Given the description of an element on the screen output the (x, y) to click on. 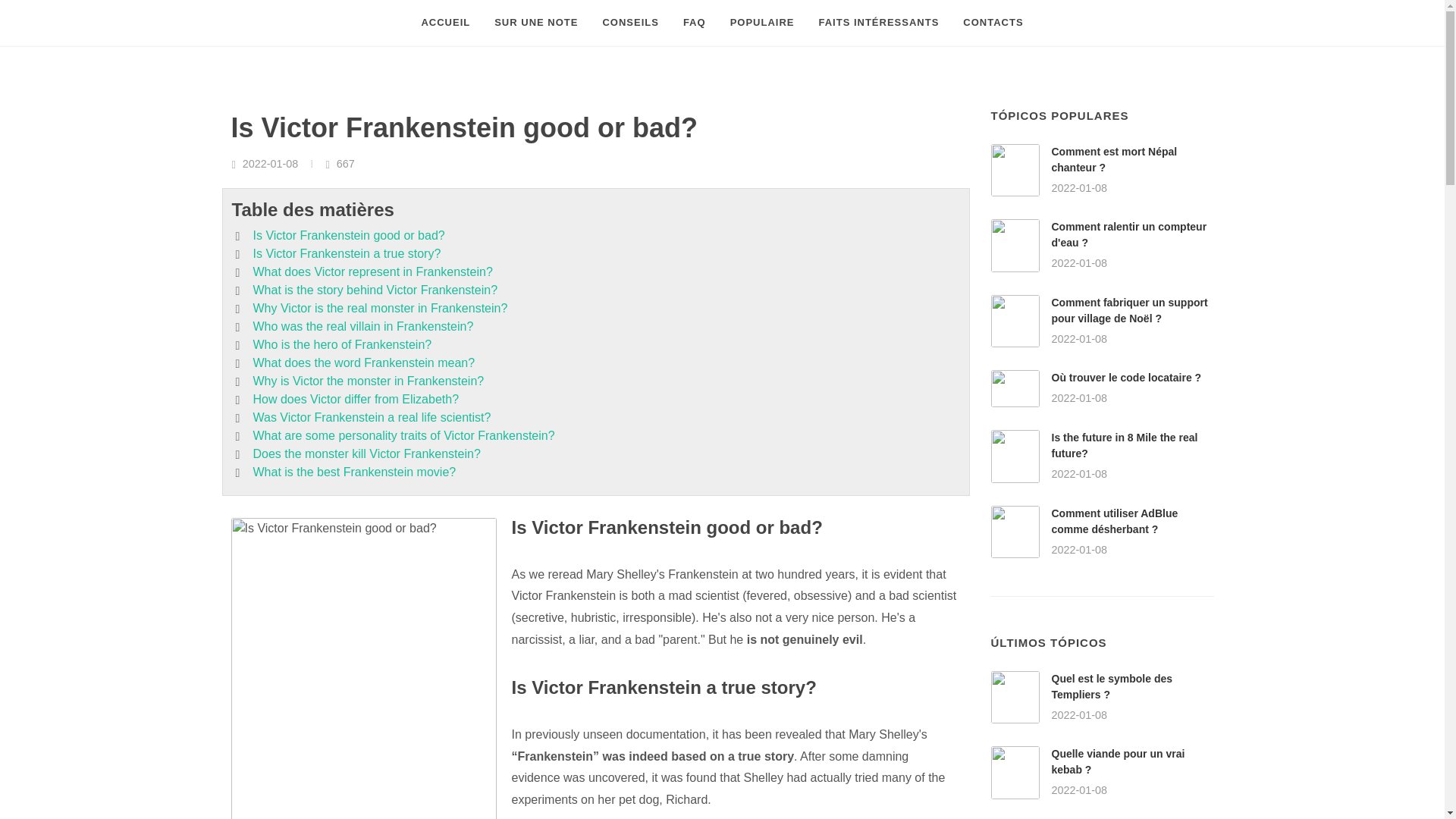
Was Victor Frankenstein a real life scientist? (372, 417)
What is the story behind Victor Frankenstein? (375, 290)
What does Victor represent in Frankenstein? (373, 271)
Who is the hero of Frankenstein? (342, 344)
ACCUEIL (445, 22)
Does the monster kill Victor Frankenstein? (366, 454)
CONTACTS (992, 22)
What does the word Frankenstein mean? (364, 362)
Why is Victor the monster in Frankenstein? (368, 381)
Is Victor Frankenstein good or bad? (349, 235)
